Given the description of an element on the screen output the (x, y) to click on. 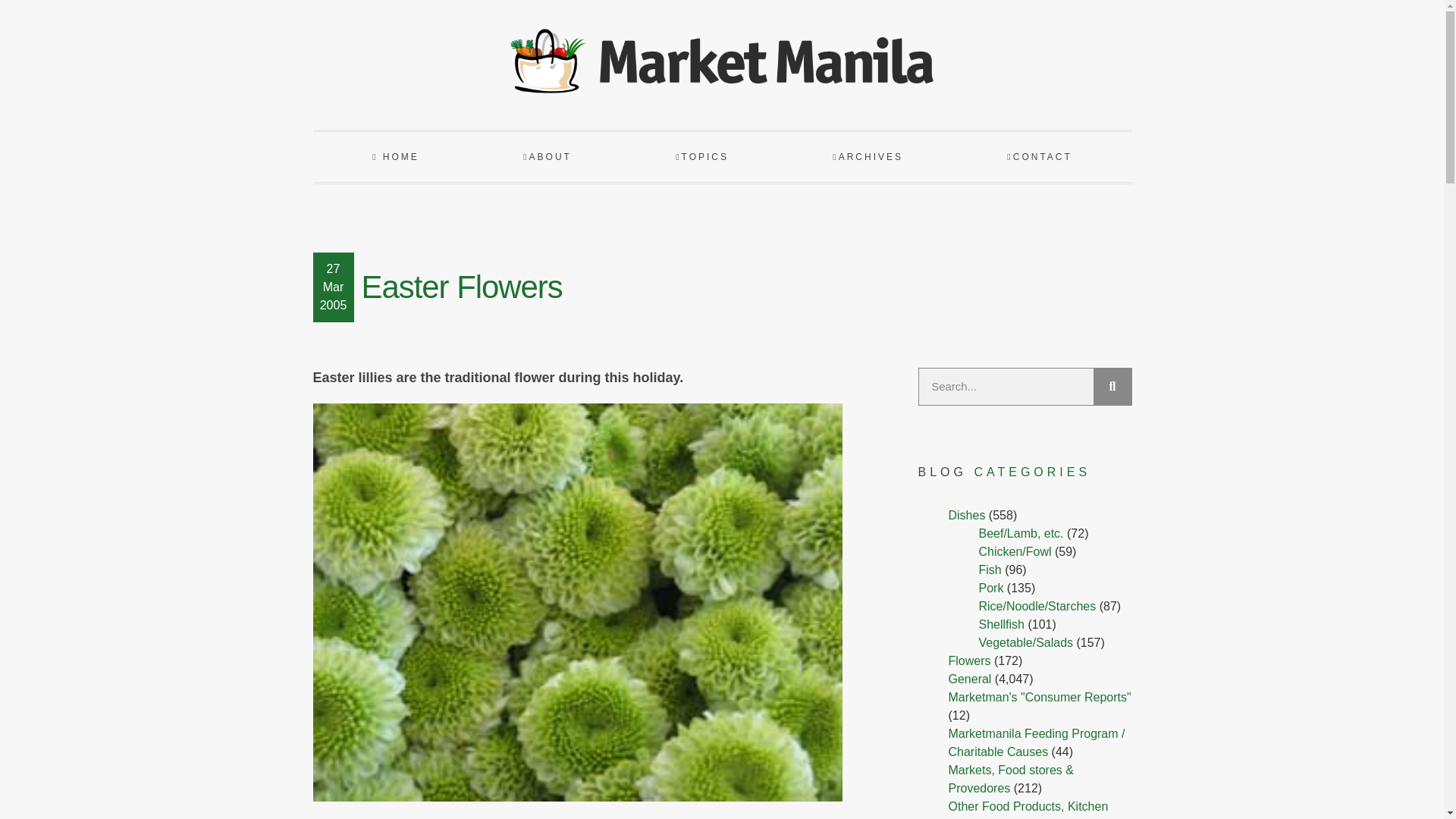
Flowers (968, 660)
Dishes (966, 514)
CONTACT (1039, 156)
Shellfish (1000, 624)
TOPICS (702, 156)
Marketman's "Consumer Reports" (1039, 697)
 HOME (395, 156)
ARCHIVES (867, 156)
Fish (989, 569)
Pork (990, 587)
ABOUT (547, 156)
Other Food Products, Kitchen Equipment, Etc. (1027, 809)
General (969, 678)
